Given the description of an element on the screen output the (x, y) to click on. 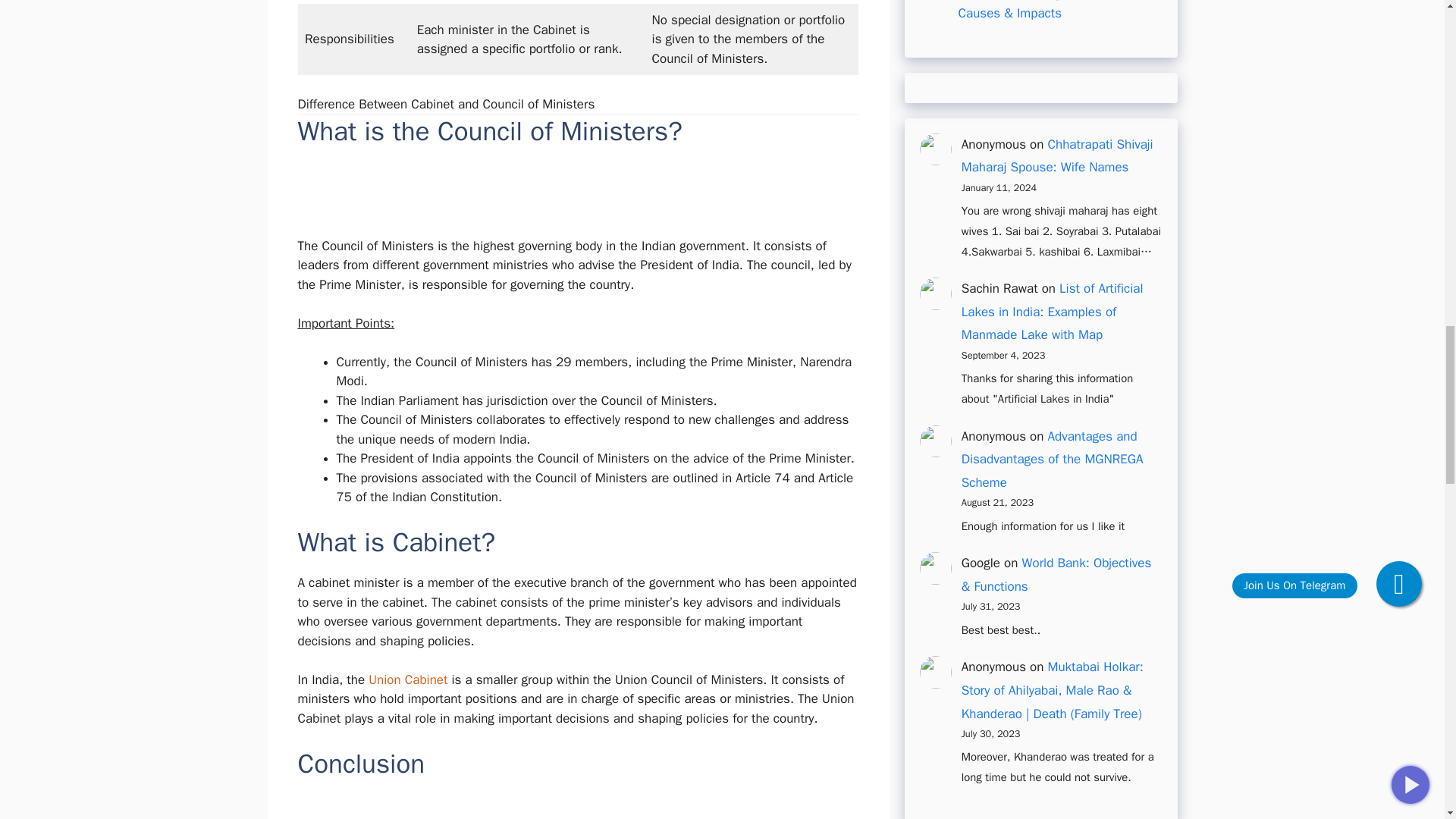
Union Cabinet (407, 679)
